Given the description of an element on the screen output the (x, y) to click on. 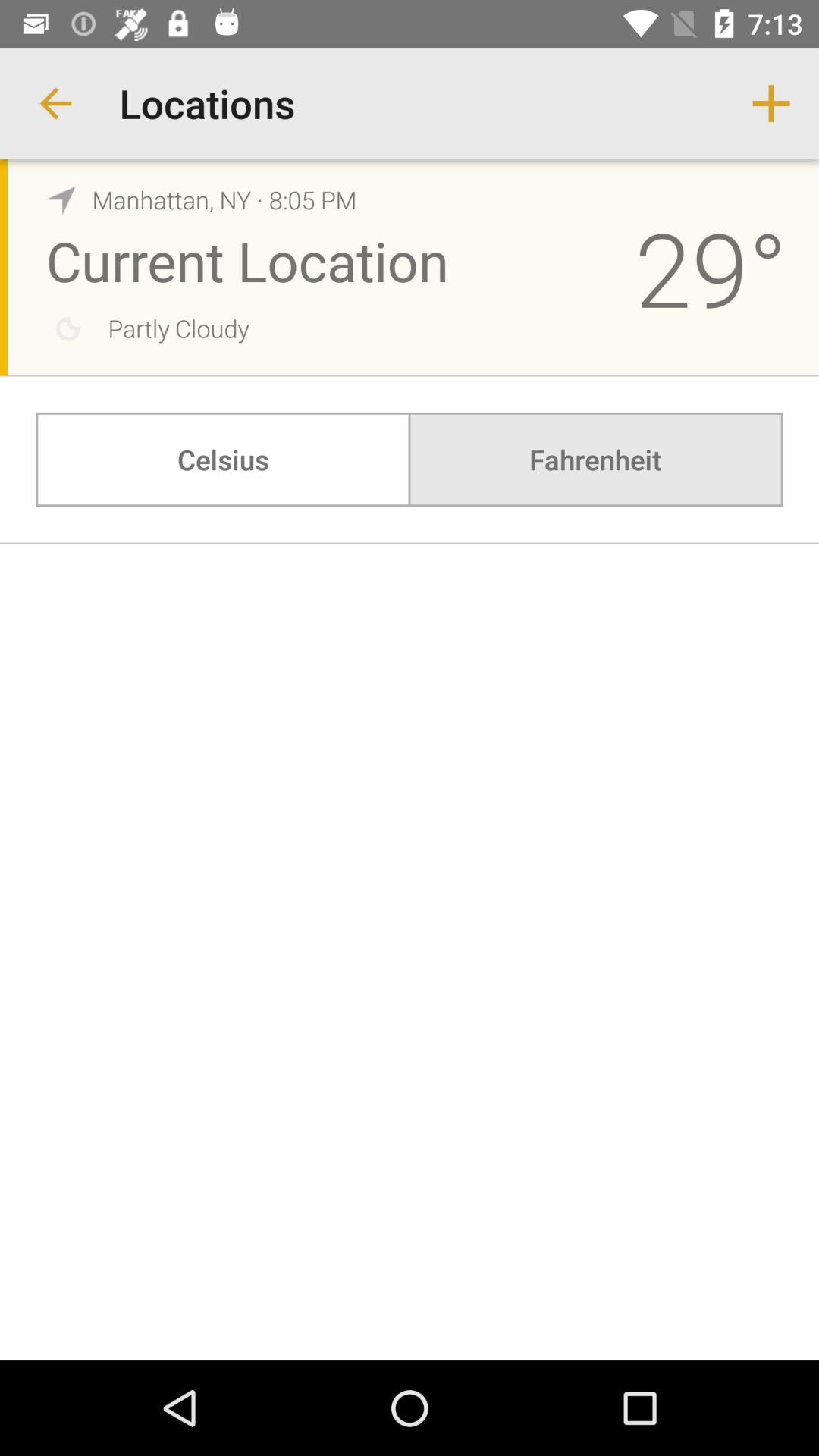
select icon to the right of the locations app (771, 103)
